Given the description of an element on the screen output the (x, y) to click on. 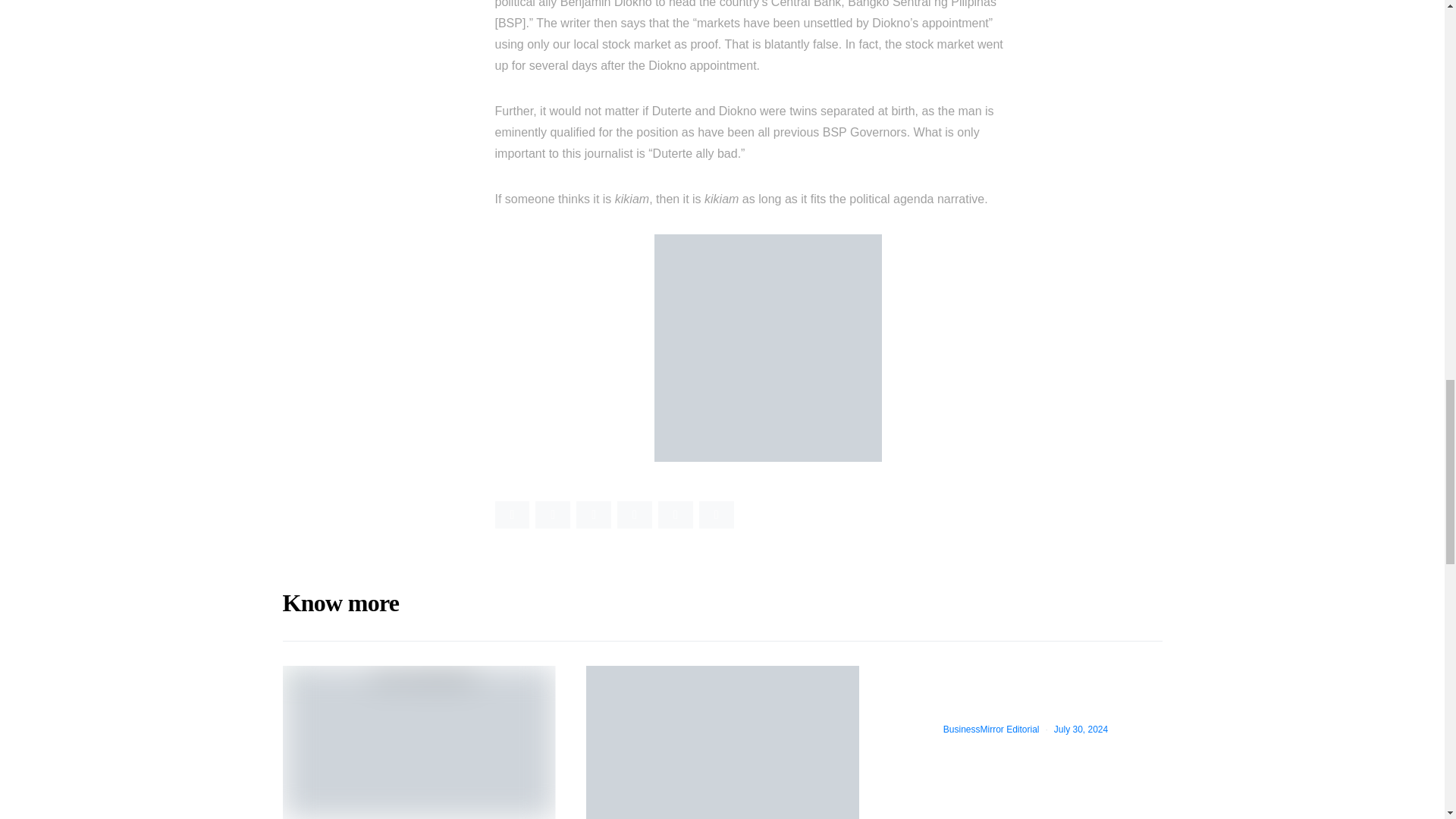
View all posts by BusinessMirror Editorial (991, 728)
